Given the description of an element on the screen output the (x, y) to click on. 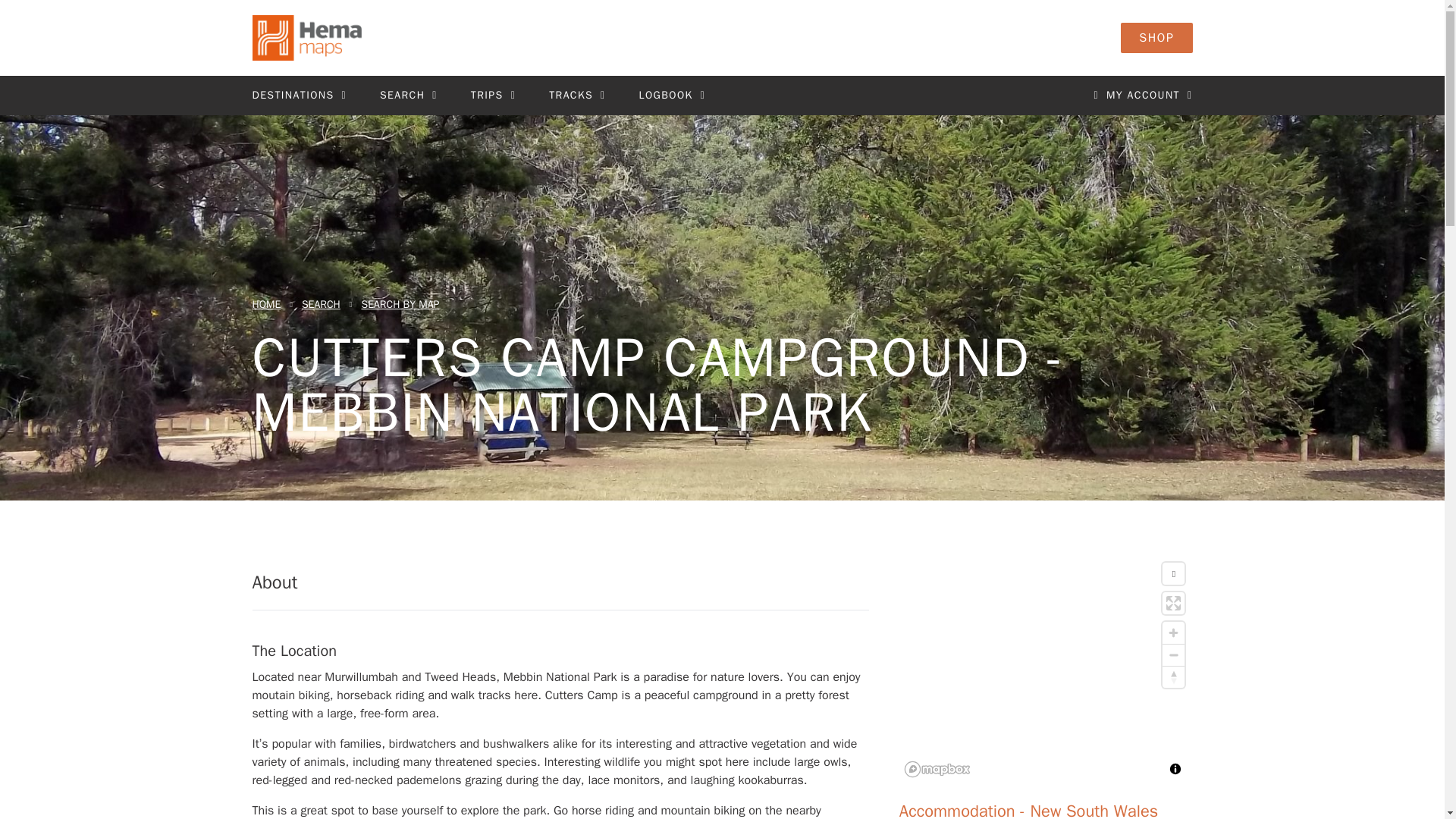
SHOP (1156, 37)
TRIPS (492, 95)
DESTINATIONS (298, 95)
TRACKS (576, 95)
LOGBOOK (672, 95)
MY ACCOUNT (1142, 95)
Zoom in (1173, 632)
Toggle Map Style (1173, 573)
Toggle attribution (1175, 769)
Zoom out (1173, 654)
